Given the description of an element on the screen output the (x, y) to click on. 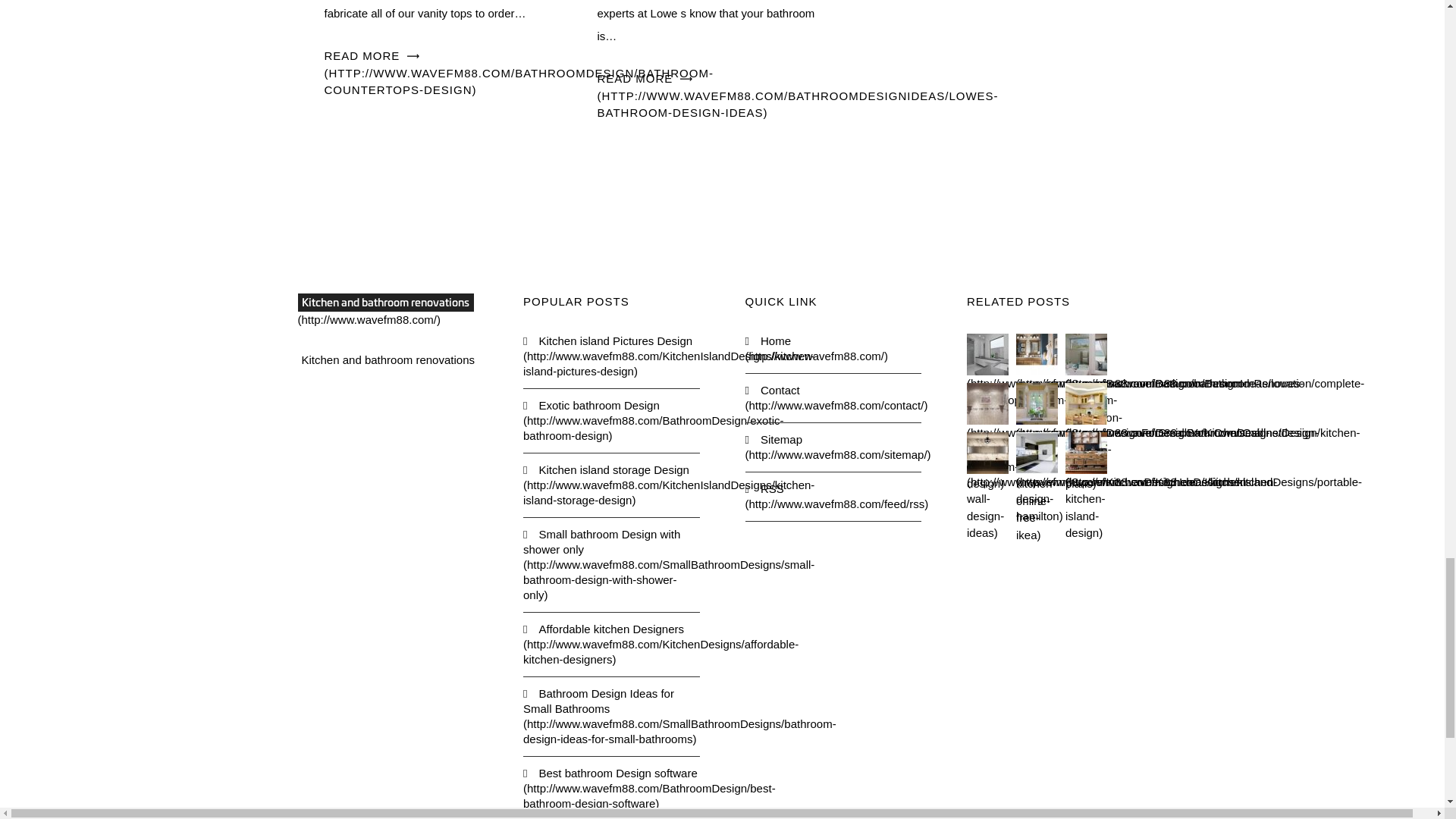
READ MORE (797, 95)
READ MORE (518, 72)
